Given the description of an element on the screen output the (x, y) to click on. 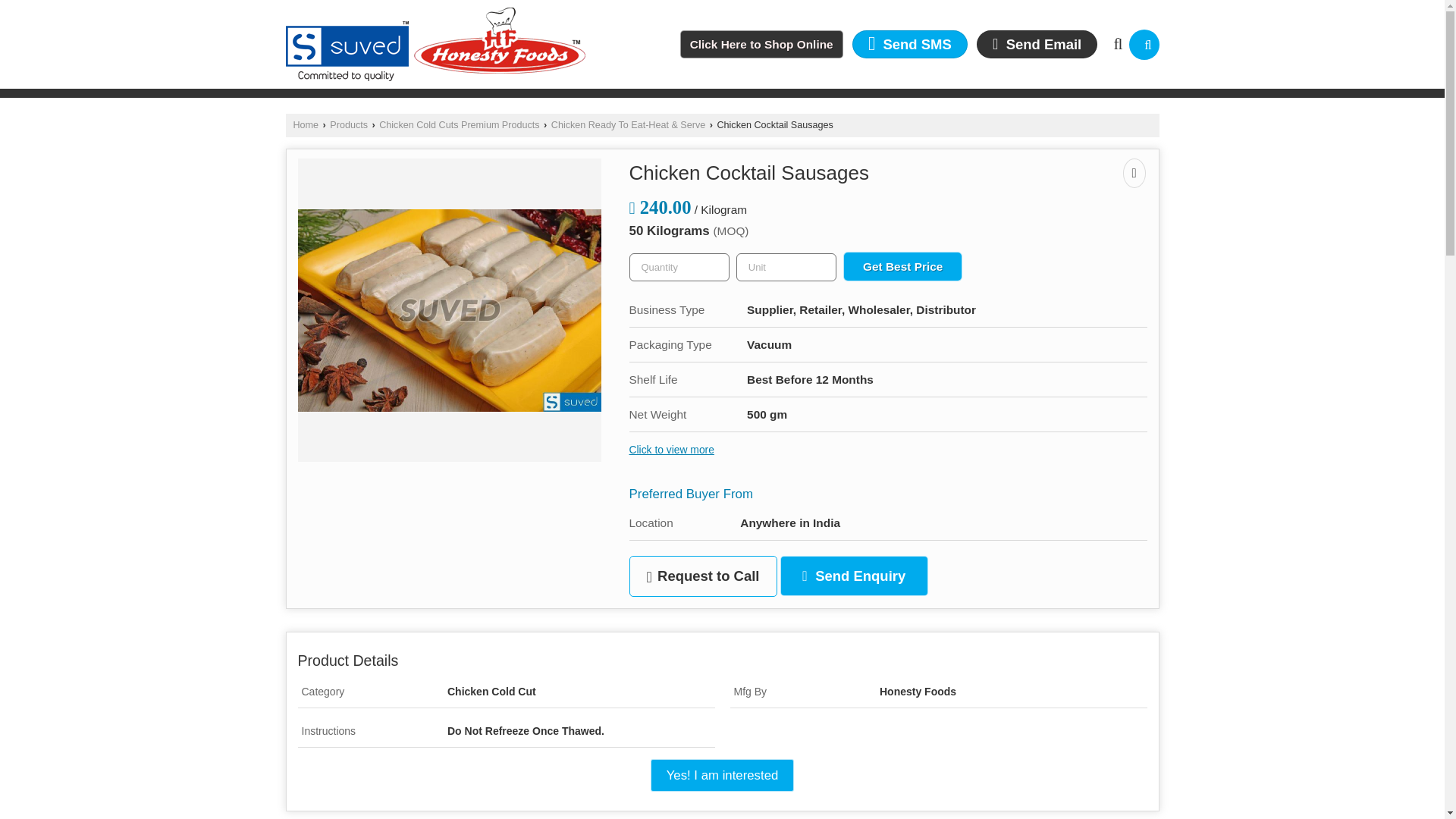
Send SMS (909, 44)
Search (1143, 44)
Send Email (1036, 44)
Click Here to Shop Online (761, 44)
